Given the description of an element on the screen output the (x, y) to click on. 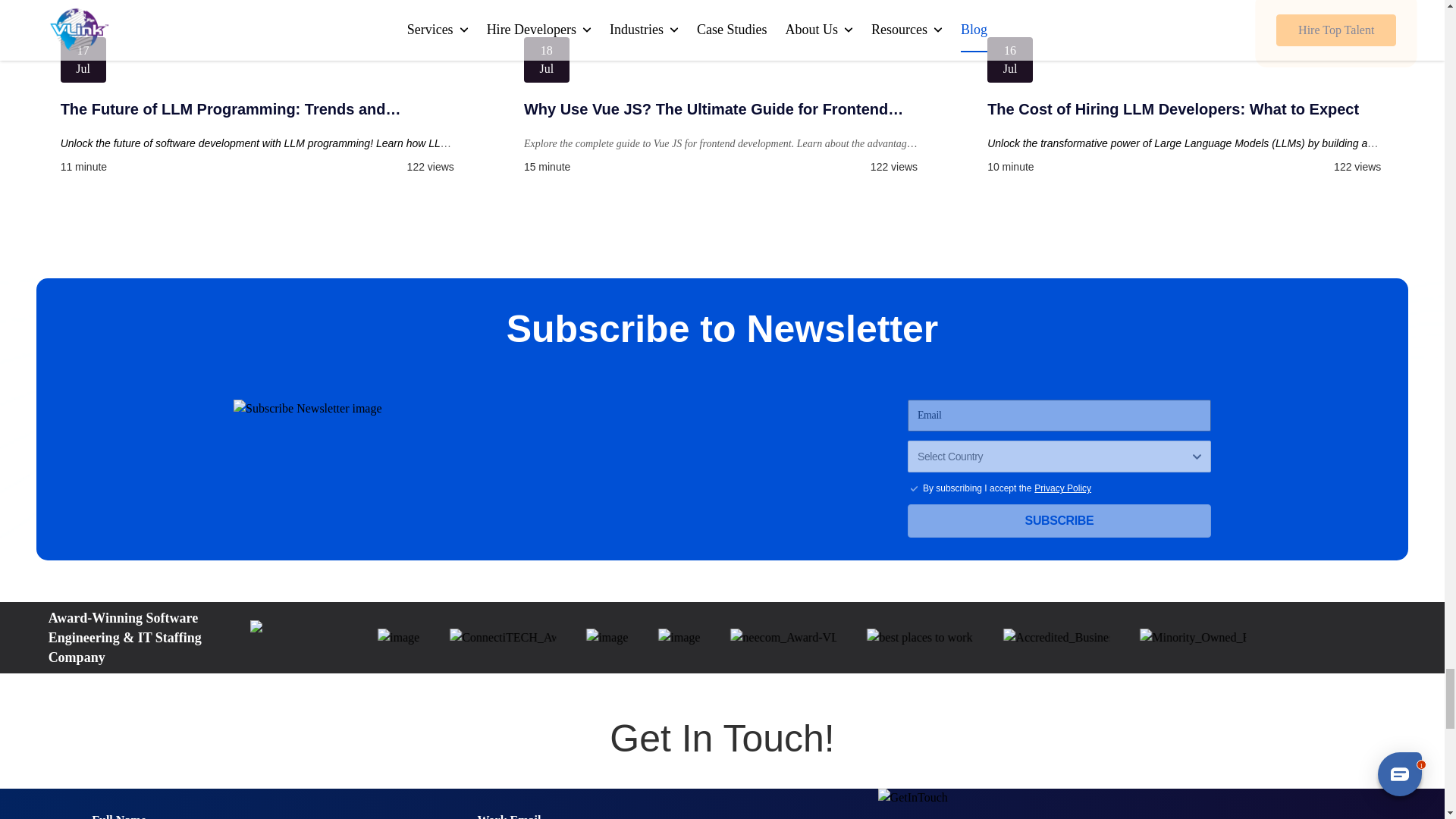
The Future of LLM Programming: Trends and Predictions  (259, 108)
The Cost of Hiring LLM Developers: What to Expect (1185, 108)
true (913, 488)
